Given the description of an element on the screen output the (x, y) to click on. 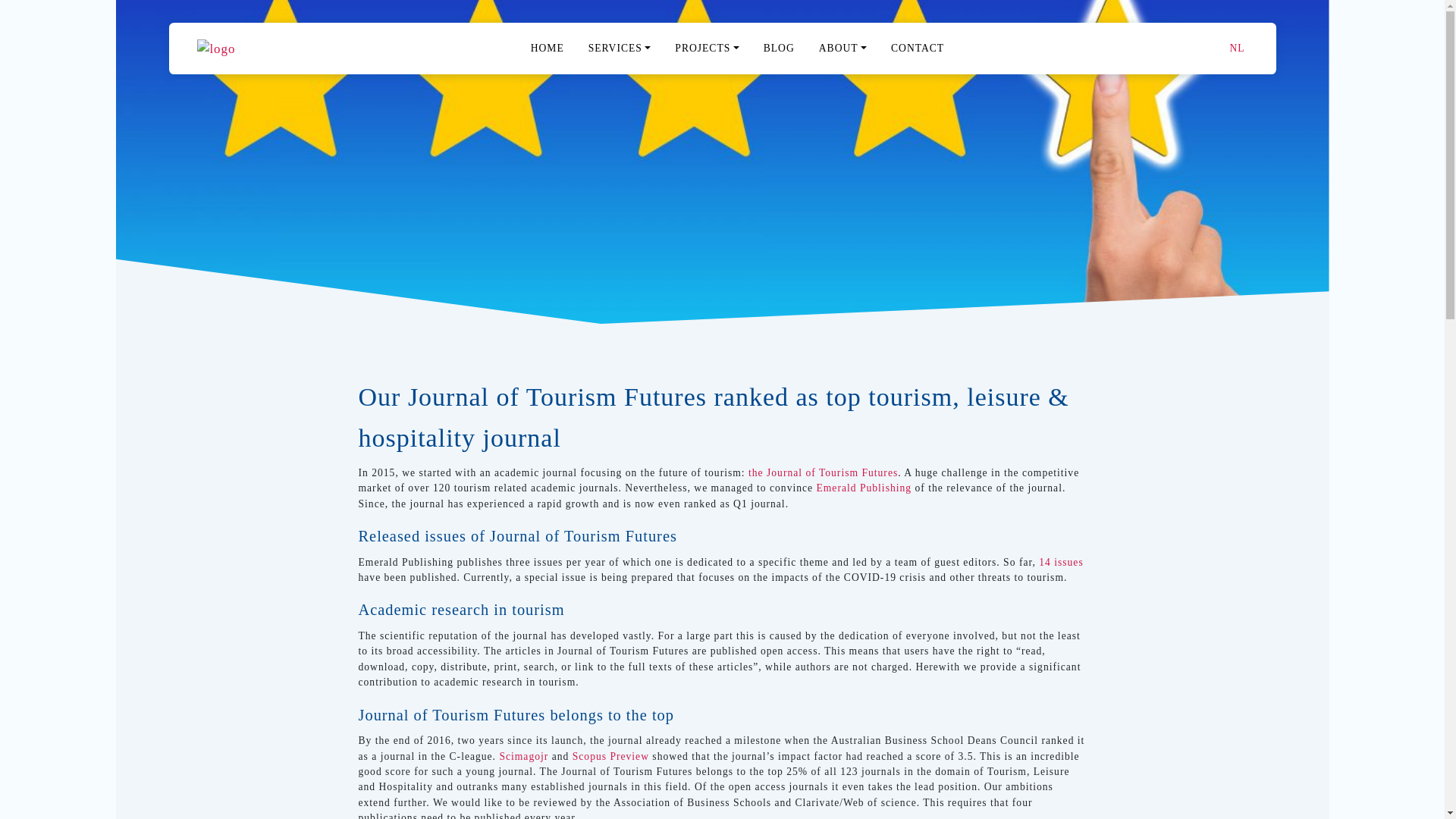
HOME (547, 48)
Emerald Publishing (863, 487)
Projects (706, 48)
Services (619, 48)
Scimagojr (523, 756)
Blog (778, 48)
the Journal of Tourism Futures (823, 472)
14 issues (1061, 562)
CONTACT (917, 48)
ABOUT (842, 48)
NL (1236, 48)
Home (547, 48)
BLOG (778, 48)
Scopus Preview (610, 756)
PROJECTS (706, 48)
